Given the description of an element on the screen output the (x, y) to click on. 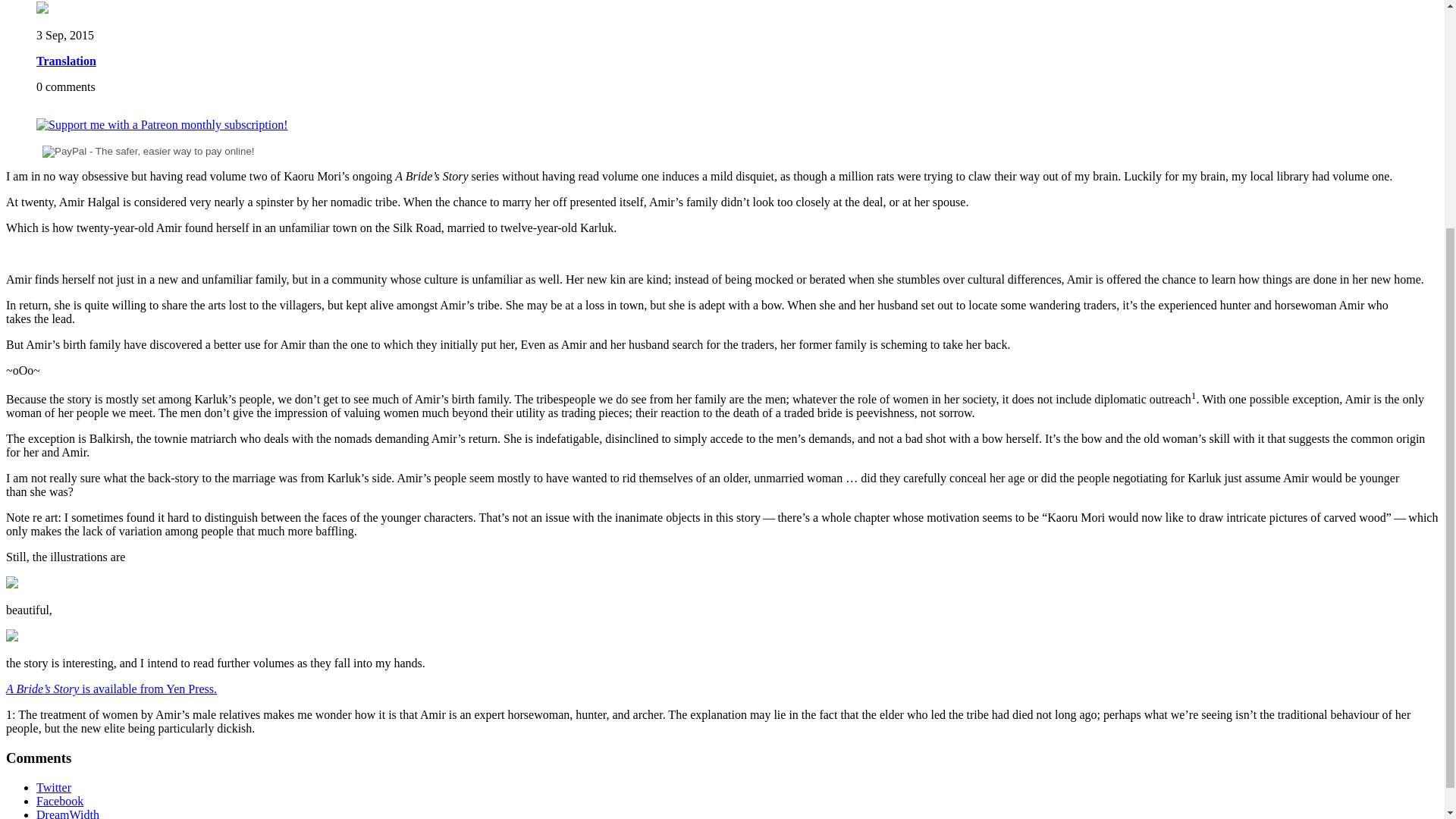
Twitter (53, 787)
Facebook (59, 800)
Translation (66, 60)
Patreon (162, 124)
. (215, 688)
